Given the description of an element on the screen output the (x, y) to click on. 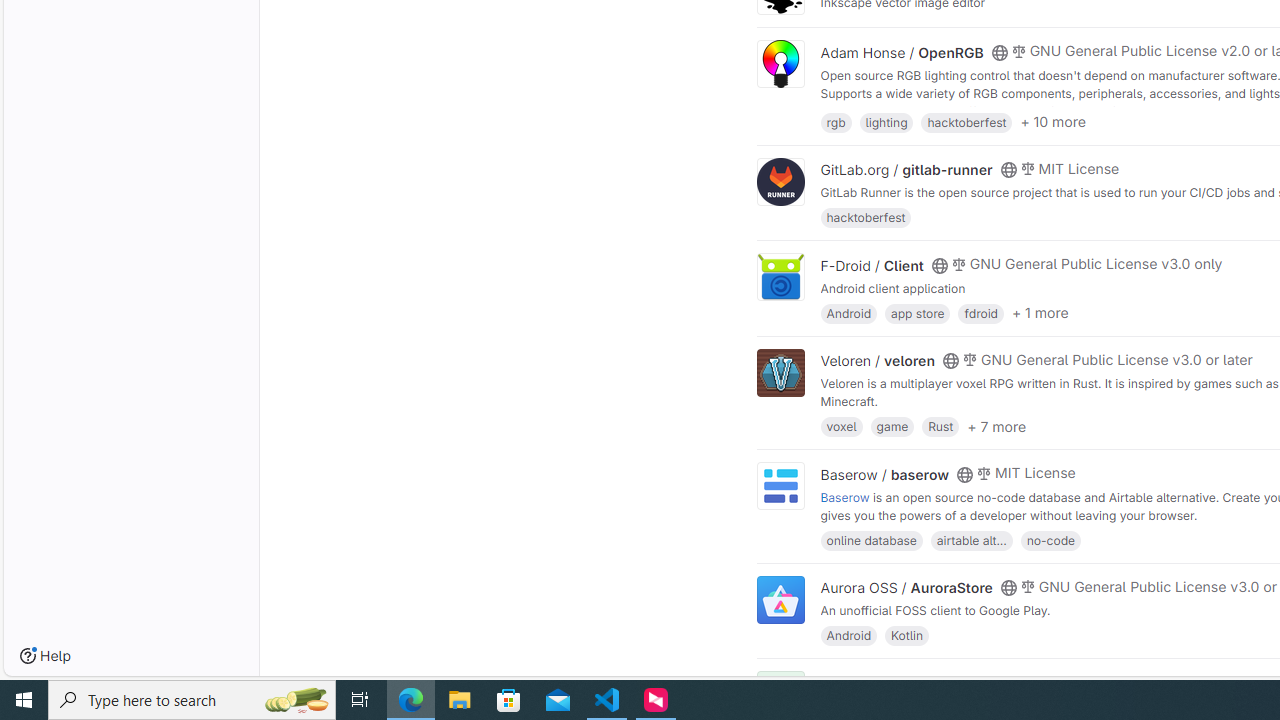
Baserow (845, 496)
https://openrgb.org (989, 110)
Class: project (780, 599)
game (892, 426)
+ 1 more (1039, 313)
no-code (1050, 539)
+ 10 more (1053, 121)
hacktoberfest (866, 217)
Class: s16 (999, 683)
F-Droid / Client (872, 265)
F (780, 695)
rgb (836, 120)
GitLab.org / gitlab-runner (906, 170)
online database (871, 539)
Android (848, 634)
